Given the description of an element on the screen output the (x, y) to click on. 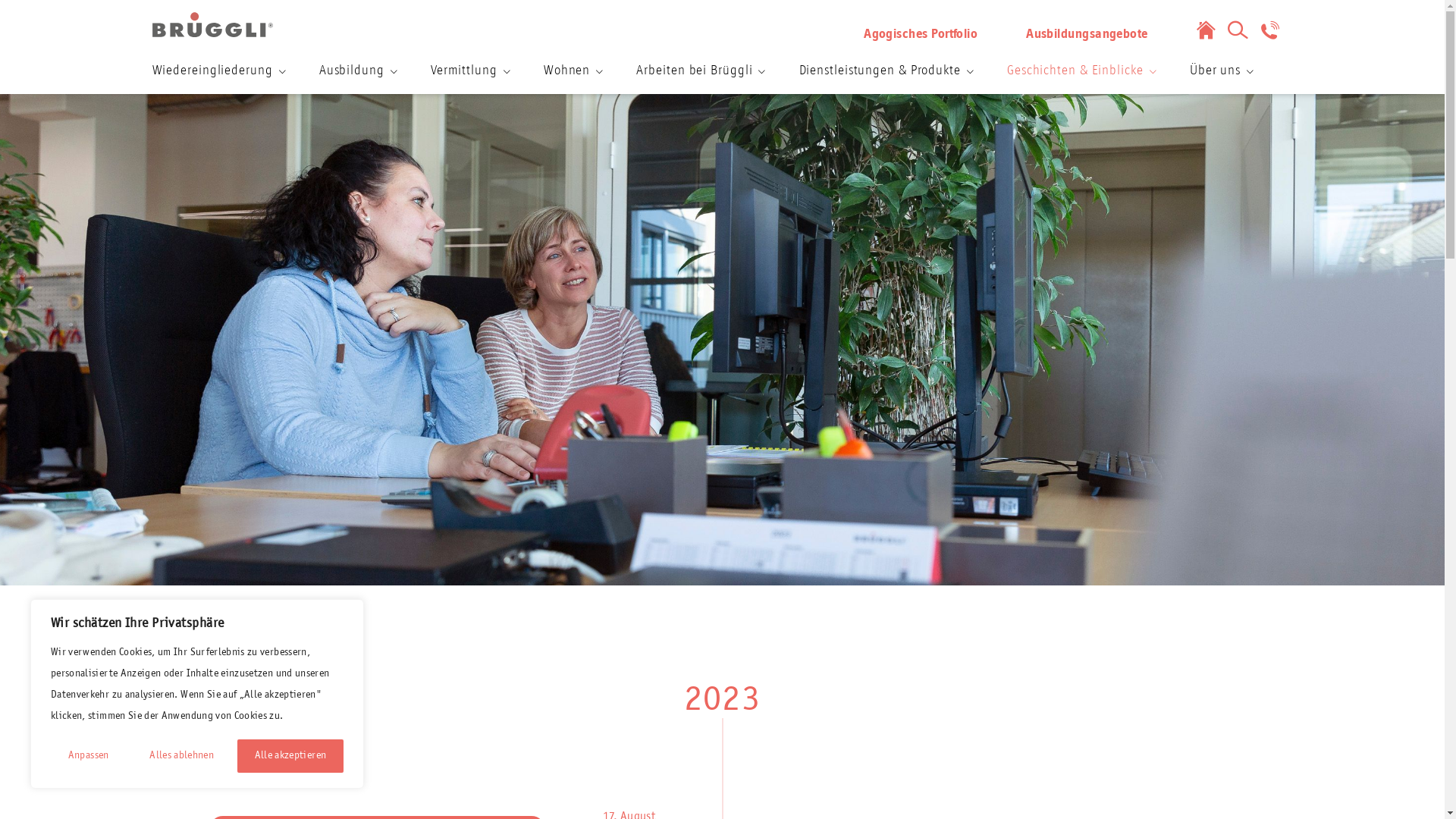
Dienstleistungen & Produkte Element type: text (886, 70)
Ausbildung Element type: text (358, 70)
Geschichten & Einblicke Element type: text (1081, 70)
Wohnen Element type: text (573, 70)
Vermittlung Element type: text (470, 70)
Agogisches Portfolio Element type: text (920, 34)
Anpassen Element type: text (87, 755)
Wiedereingliederung Element type: text (218, 70)
Alle akzeptieren Element type: text (290, 755)
Alles ablehnen Element type: text (180, 755)
Ausbildungsangebote Element type: text (1087, 34)
